Given the description of an element on the screen output the (x, y) to click on. 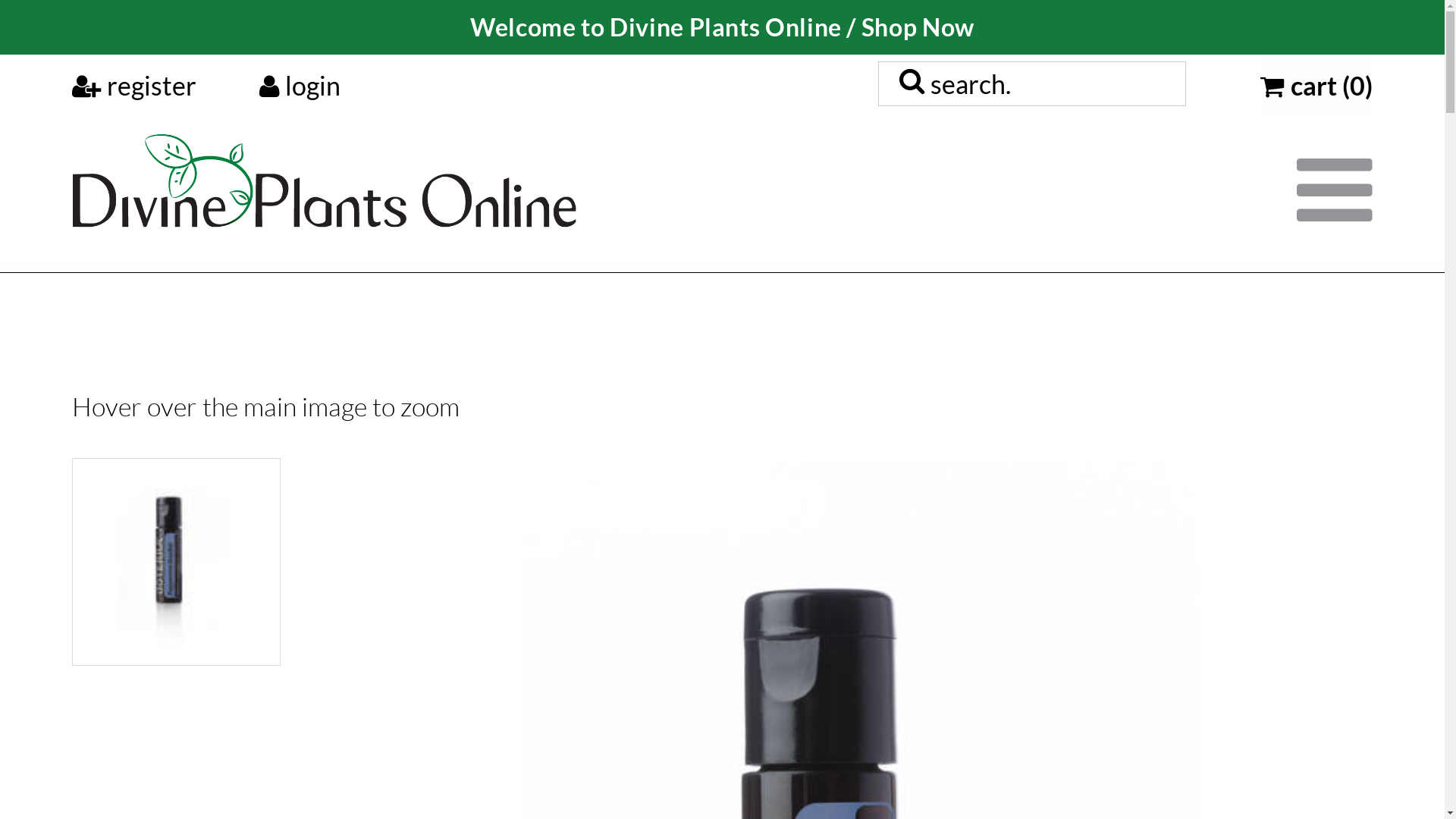
Welcome to Divine Plants Online / Shop Now Element type: text (722, 26)
register Element type: text (134, 85)
cart (0) Element type: text (1315, 85)
login Element type: text (299, 85)
